Given the description of an element on the screen output the (x, y) to click on. 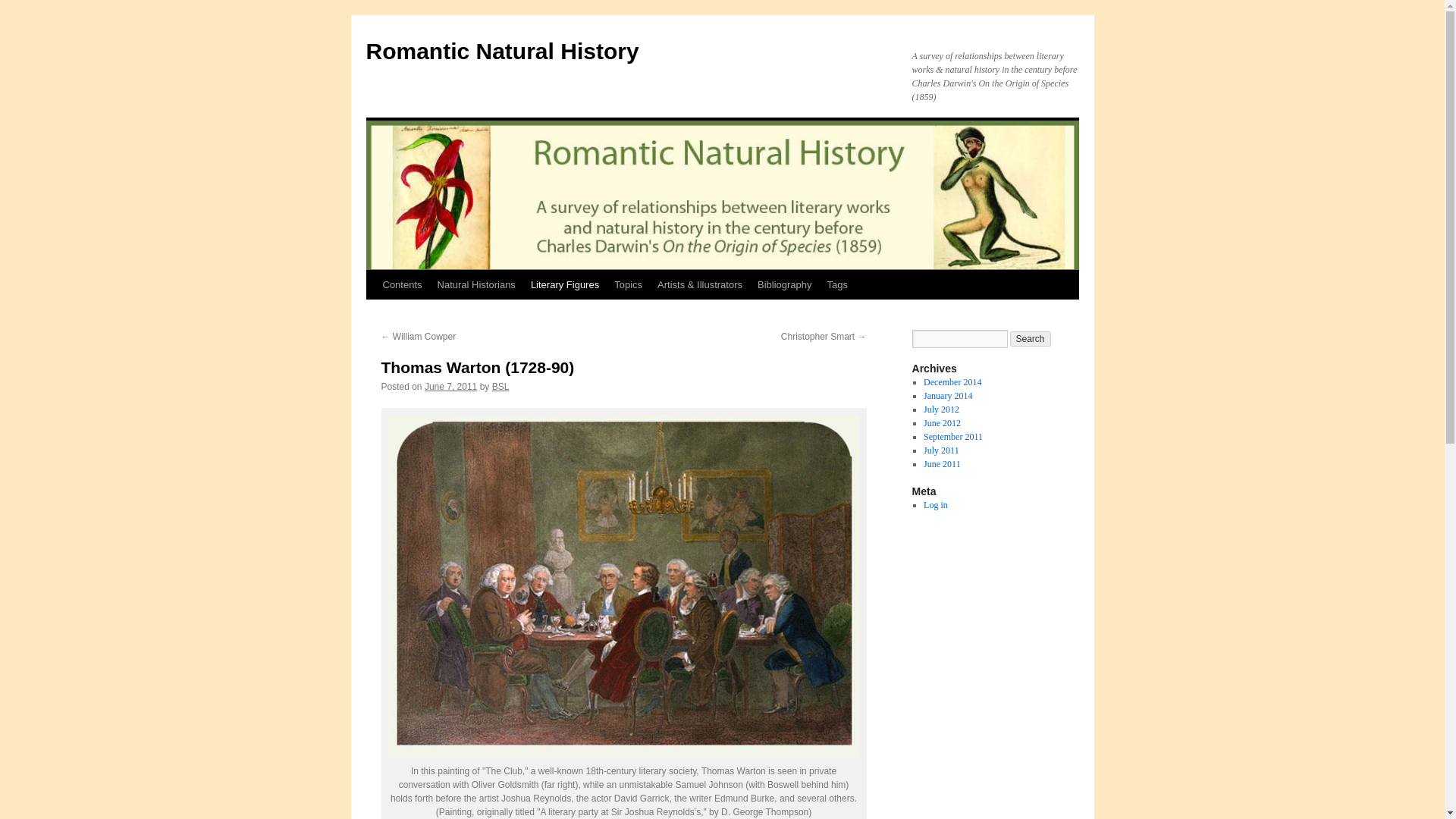
View all posts by BSL (500, 386)
Search (1030, 338)
Contents (401, 285)
Natural Historians (475, 285)
7:28 pm (451, 386)
Literary Figures (564, 285)
Romantic Natural History (502, 50)
